Given the description of an element on the screen output the (x, y) to click on. 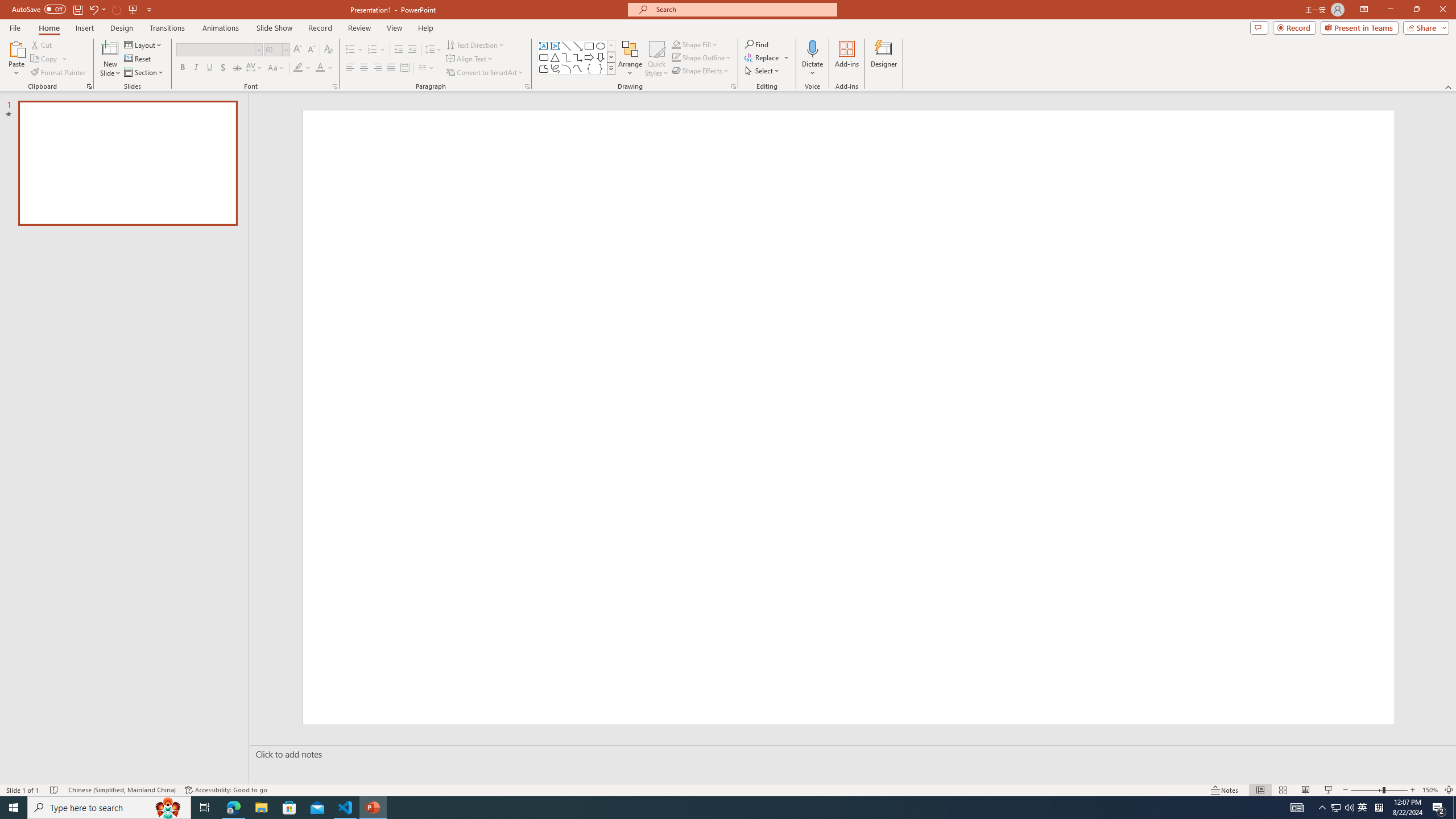
Arrow: Right (589, 57)
Arrange (630, 58)
Spell Check No Errors (54, 790)
Cut (42, 44)
Freeform: Scribble (554, 68)
Font Size (276, 49)
Shape Outline (701, 56)
Distributed (404, 67)
Bullets (349, 49)
Slide (127, 163)
New Slide (110, 48)
